Given the description of an element on the screen output the (x, y) to click on. 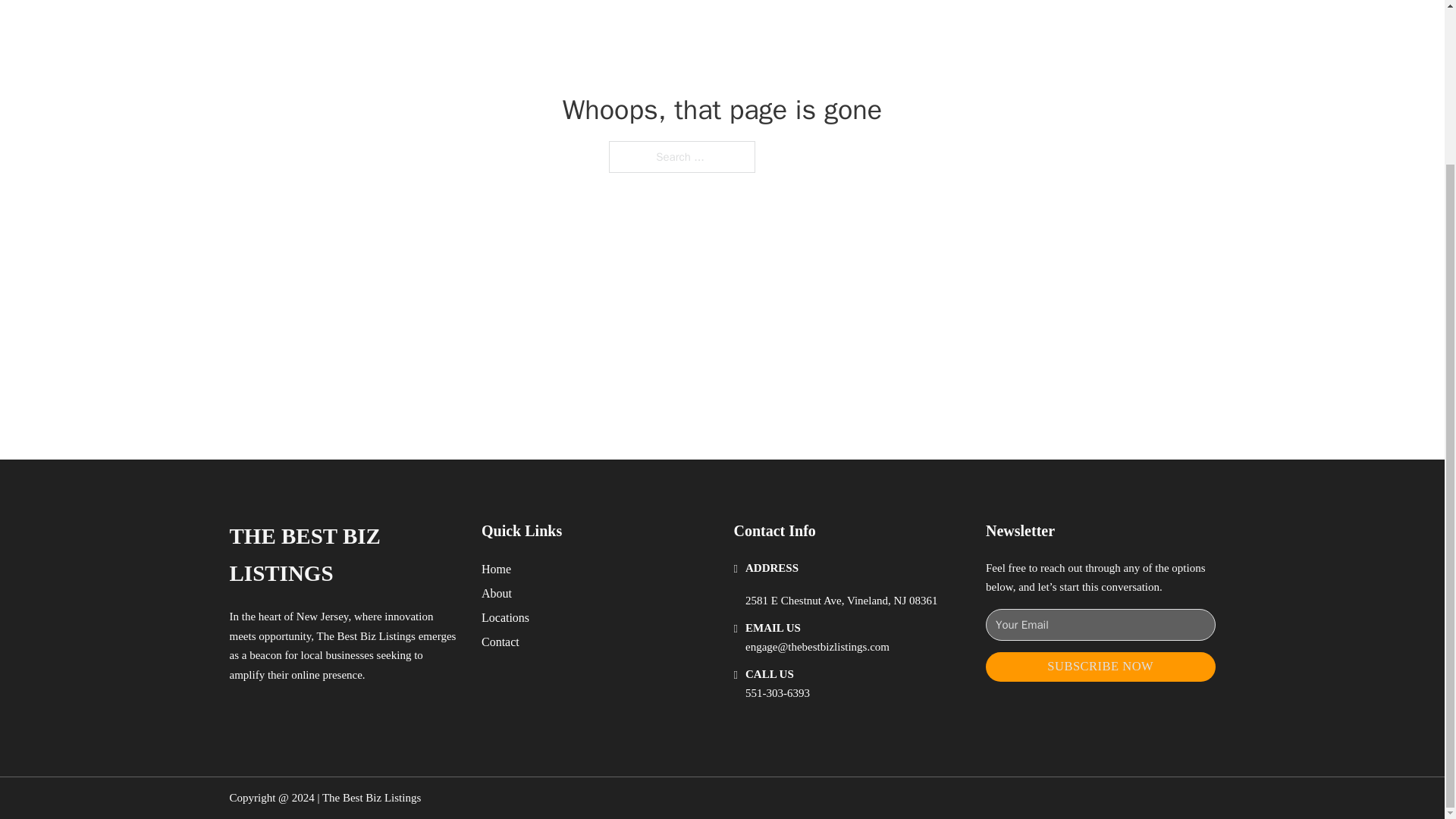
Locations (505, 617)
SUBSCRIBE NOW (1100, 666)
551-303-6393 (777, 693)
Home (496, 568)
Contact (500, 641)
About (496, 593)
THE BEST BIZ LISTINGS (343, 554)
